Given the description of an element on the screen output the (x, y) to click on. 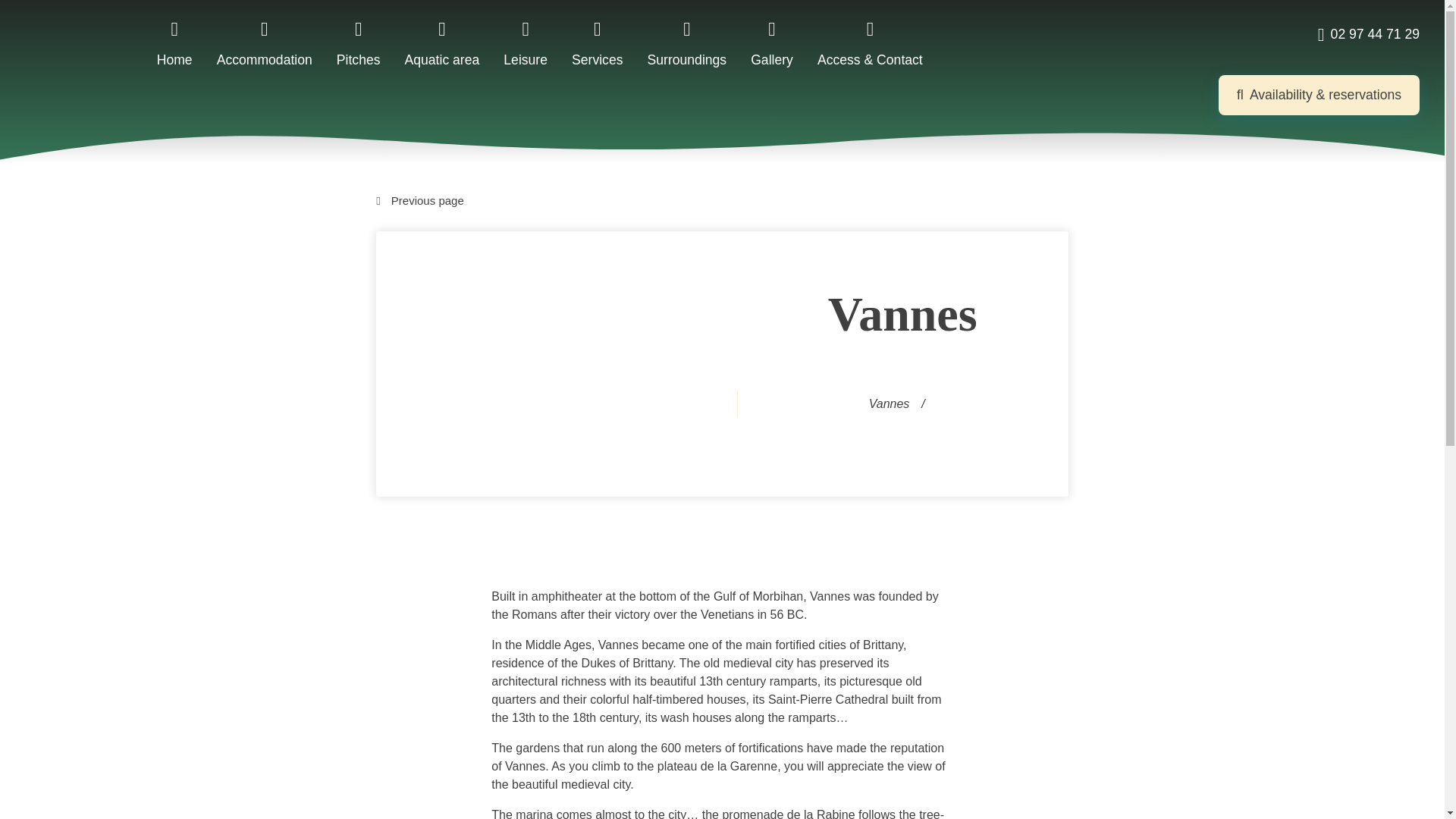
Accommodation (264, 42)
Aquatic area (442, 42)
02 97 44 71 29 (1368, 34)
Services (597, 42)
Previous page (721, 200)
Surroundings (686, 42)
